Given the description of an element on the screen output the (x, y) to click on. 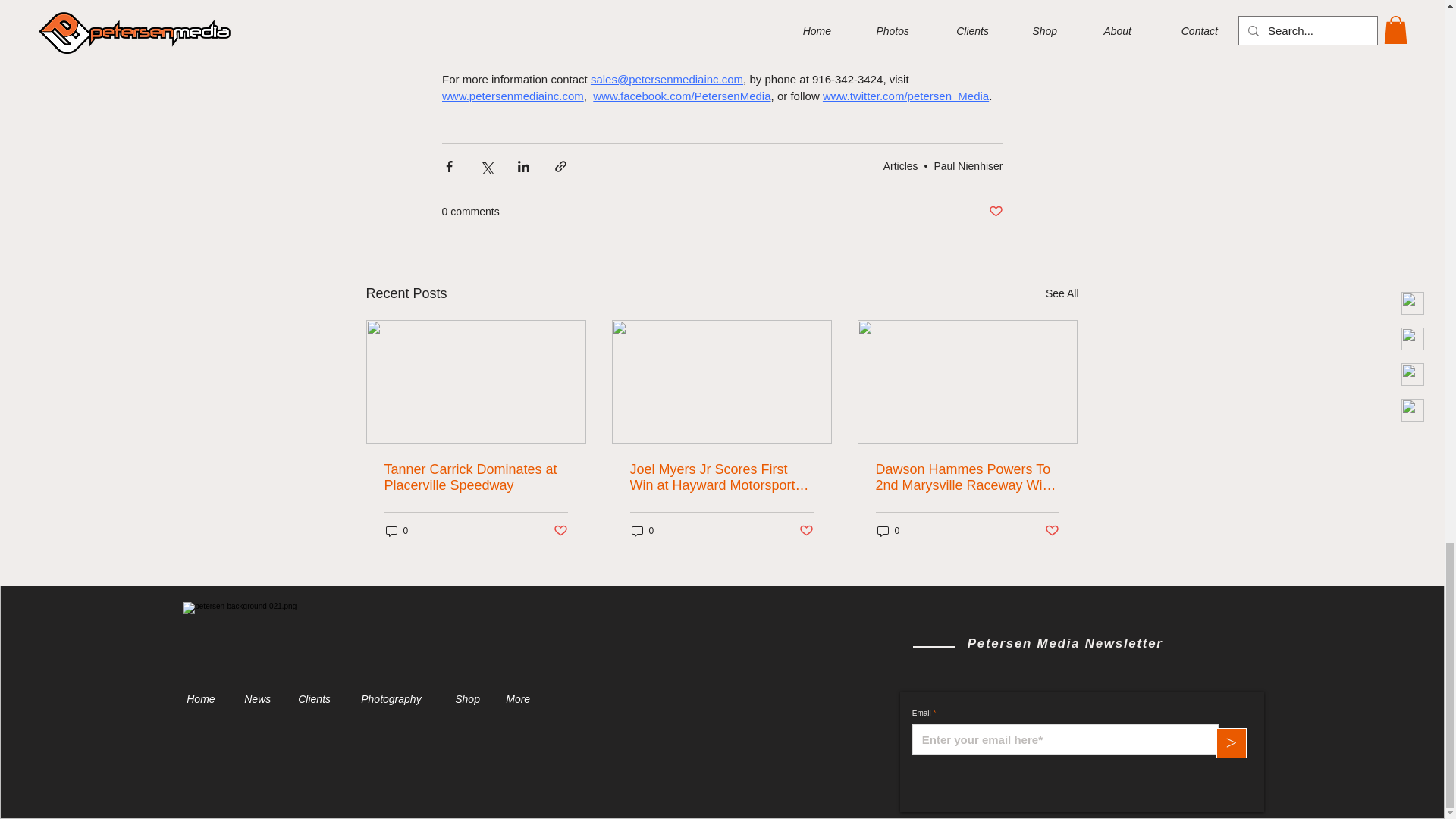
Post not marked as liked (560, 530)
See All (1061, 293)
Post not marked as liked (995, 211)
0 (641, 530)
Tanner Carrick Dominates at Placerville Speedway   (475, 477)
Paul Nienhiser (968, 165)
0 (396, 530)
Articles (900, 165)
0 (888, 530)
Post not marked as liked (806, 530)
www.petersenmediainc.com (512, 95)
